Given the description of an element on the screen output the (x, y) to click on. 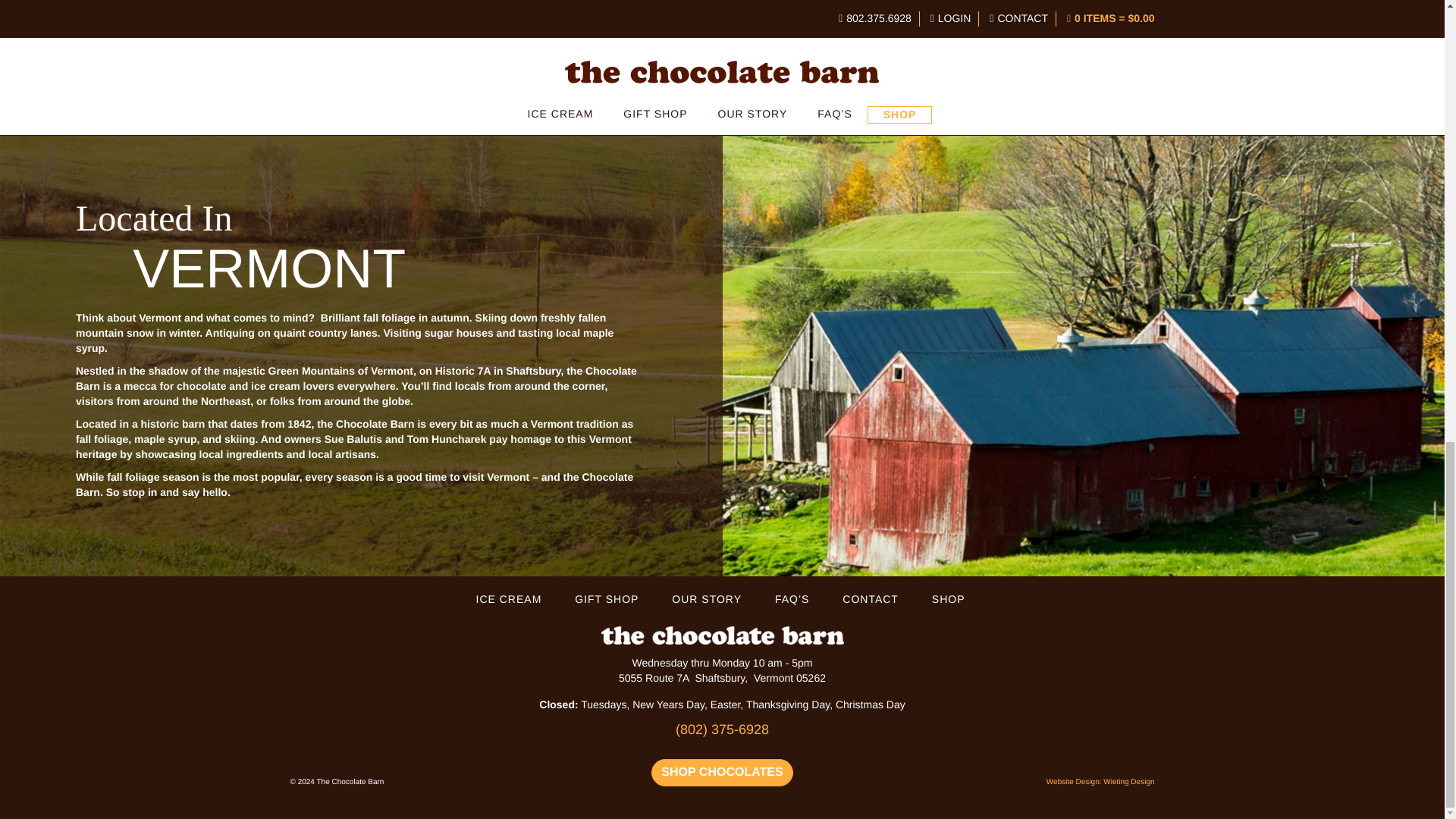
ICE CREAM (508, 598)
CONTACT (870, 598)
Website Design: Wieting Design (1100, 782)
OUR STORY (706, 598)
SHOP (948, 598)
SHOP CHOCOLATES (652, 71)
SHOP CHOCOLATES (721, 773)
LEARN MORE ABOUT OUR ICE CREAM (998, 71)
GIFT SHOP (606, 598)
SHOP OUR GIFT SHOP (361, 71)
